Given the description of an element on the screen output the (x, y) to click on. 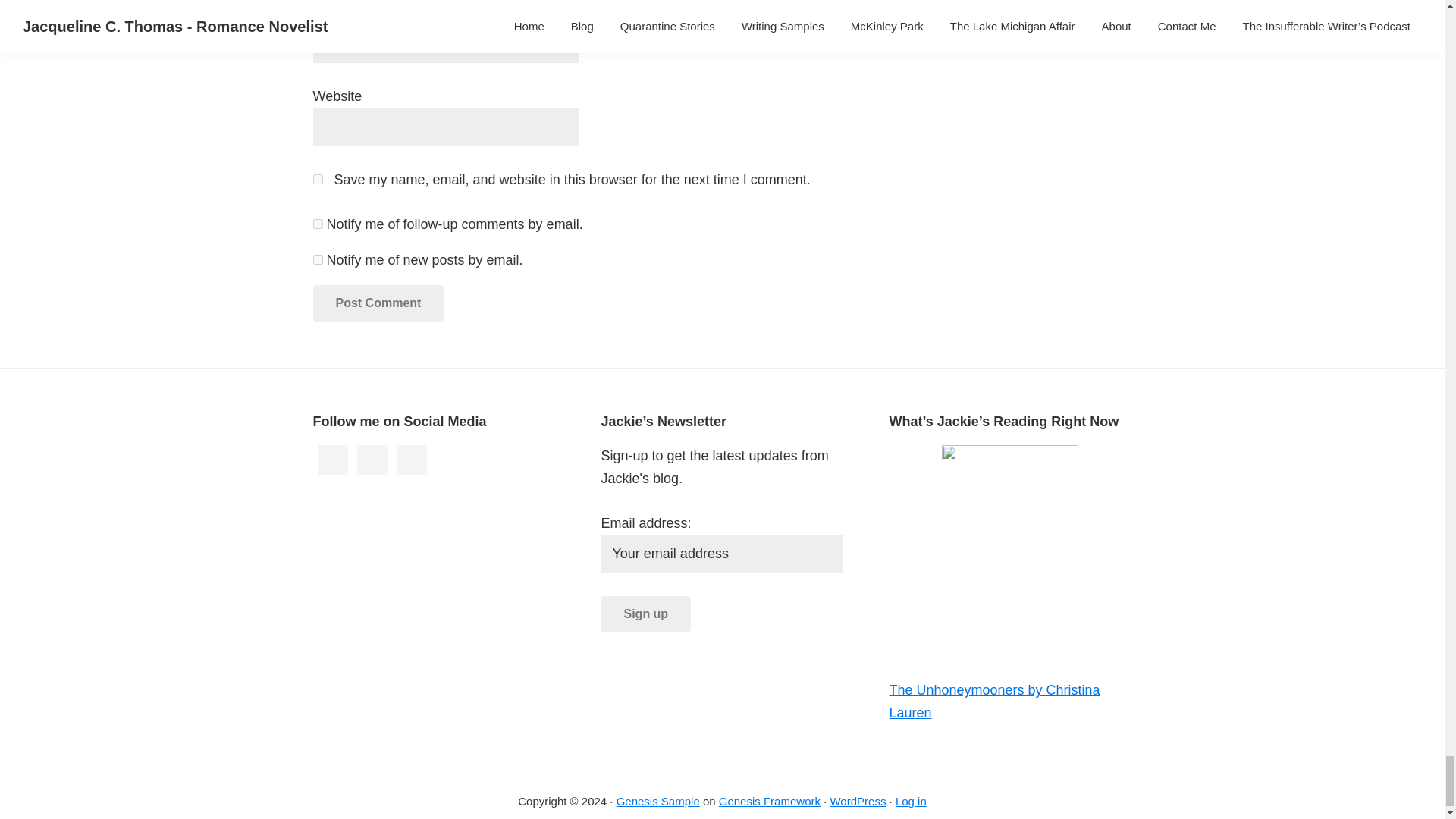
Post Comment (378, 303)
subscribe (317, 224)
subscribe (317, 259)
Post Comment (378, 303)
yes (317, 179)
Sign up (644, 614)
